Given the description of an element on the screen output the (x, y) to click on. 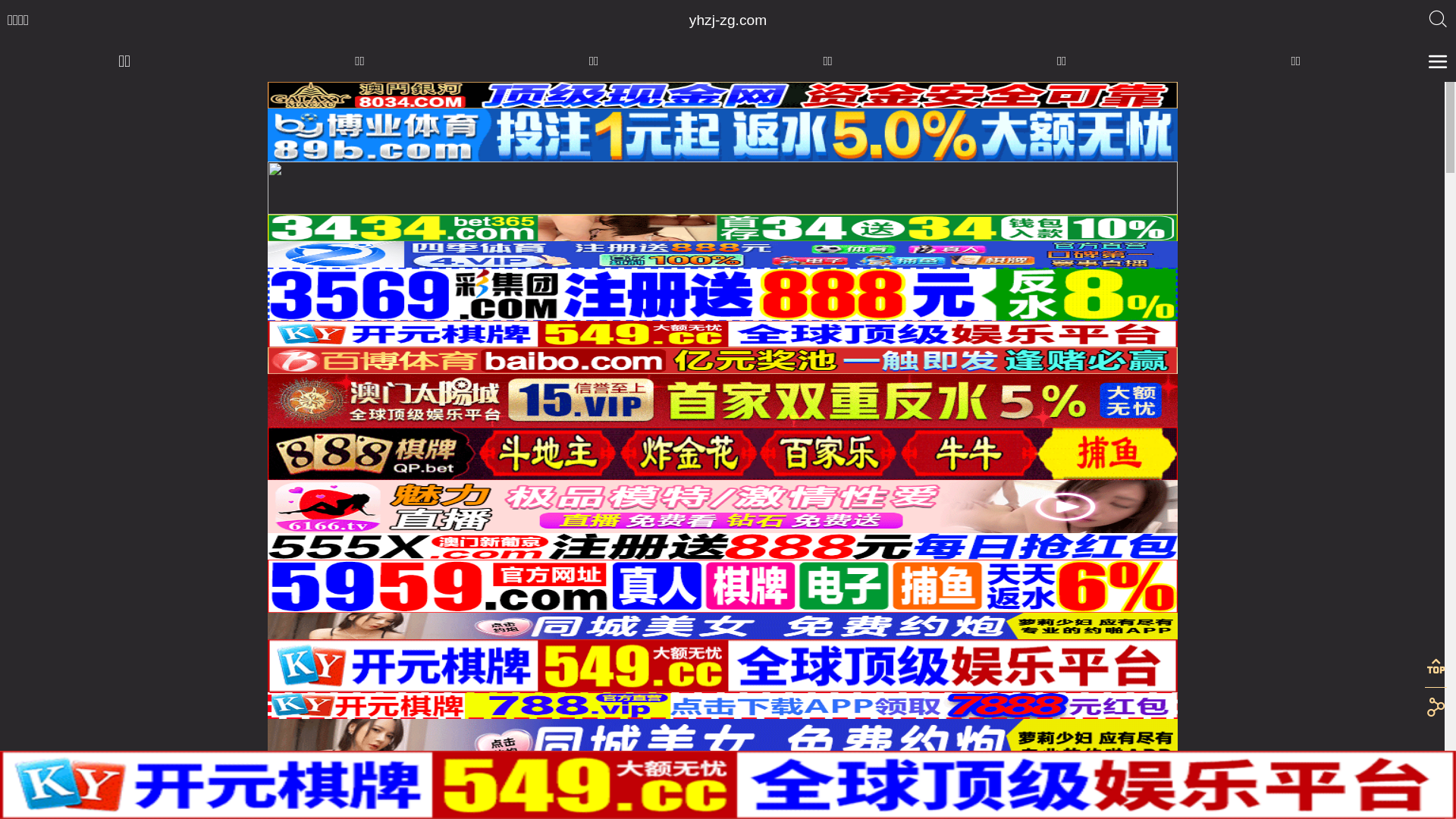
yhzj-zg.com Element type: text (727, 20)
